Given the description of an element on the screen output the (x, y) to click on. 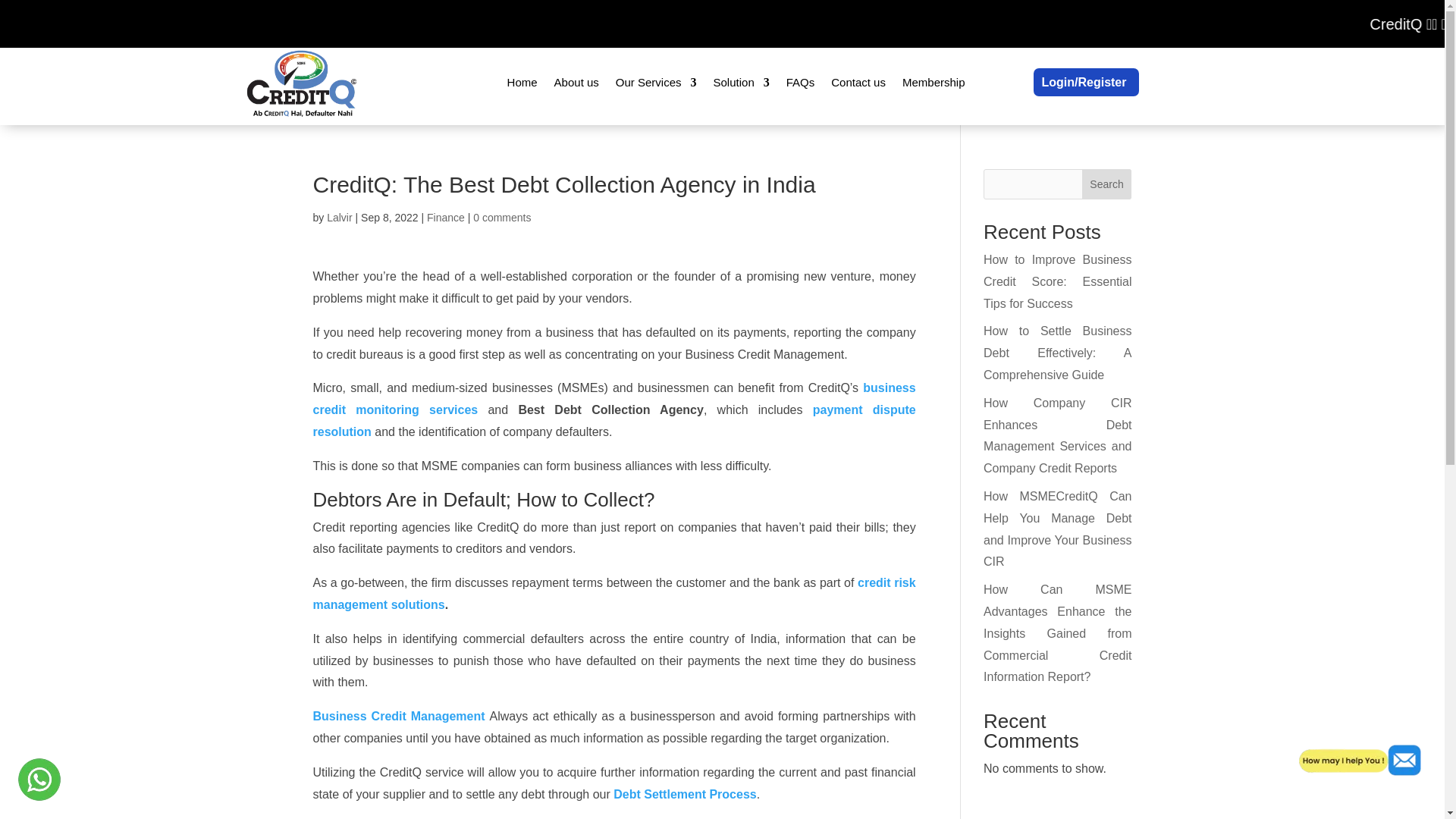
Contact us (858, 82)
Business Credit Management (401, 716)
Home (521, 82)
credit risk management solutions (614, 593)
0 comments (502, 217)
whatsapp-icon (38, 779)
About us (576, 82)
FAQs (800, 82)
Lalvir (339, 217)
Membership (933, 82)
Posts by Lalvir (339, 217)
Our Services (656, 82)
Solution (741, 82)
Finance (445, 217)
business credit monitoring services (614, 398)
